Given the description of an element on the screen output the (x, y) to click on. 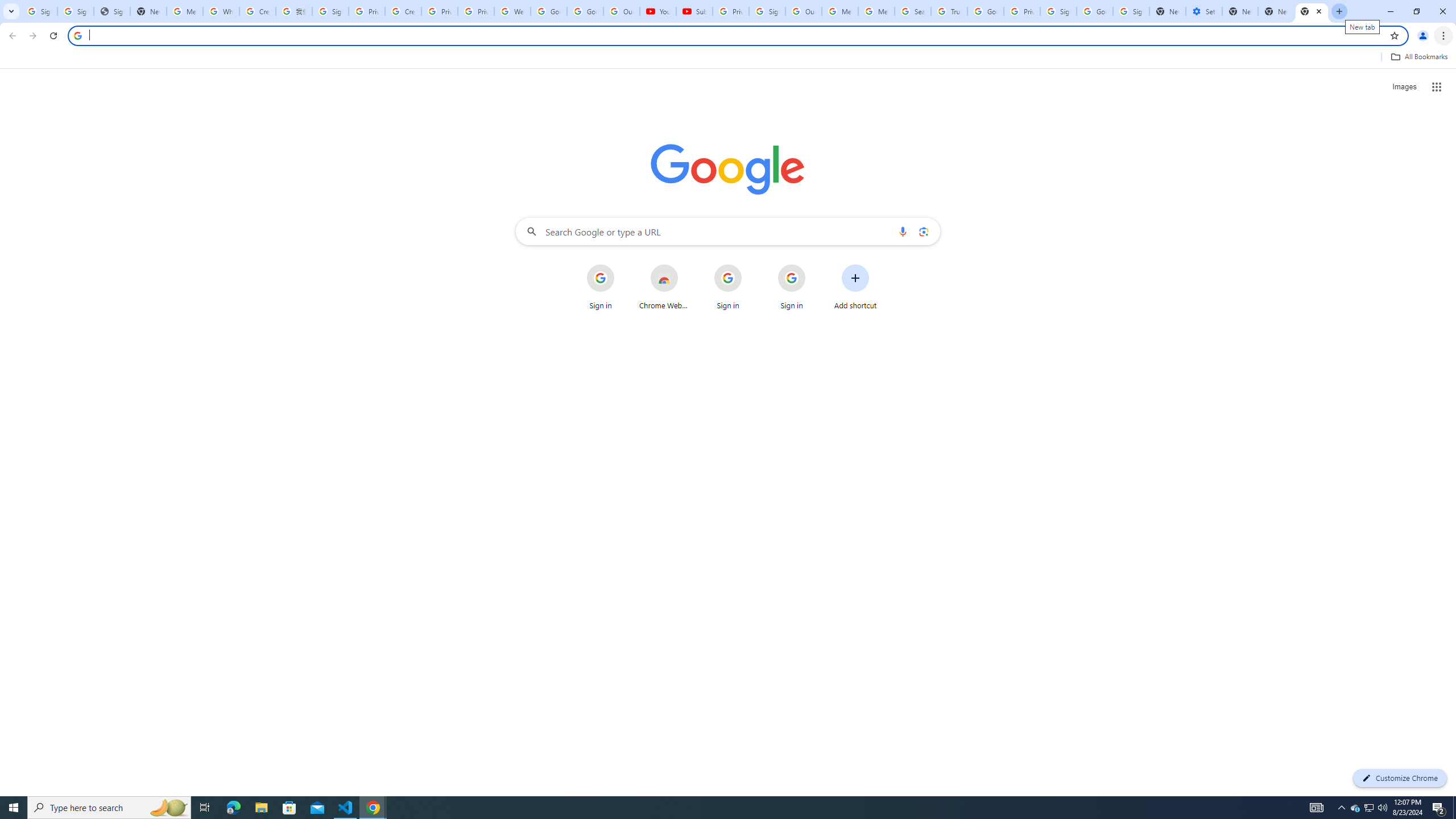
Welcome to My Activity (512, 11)
Trusted Information and Content - Google Safety Center (949, 11)
Create your Google Account (403, 11)
Subscriptions - YouTube (694, 11)
